Given the description of an element on the screen output the (x, y) to click on. 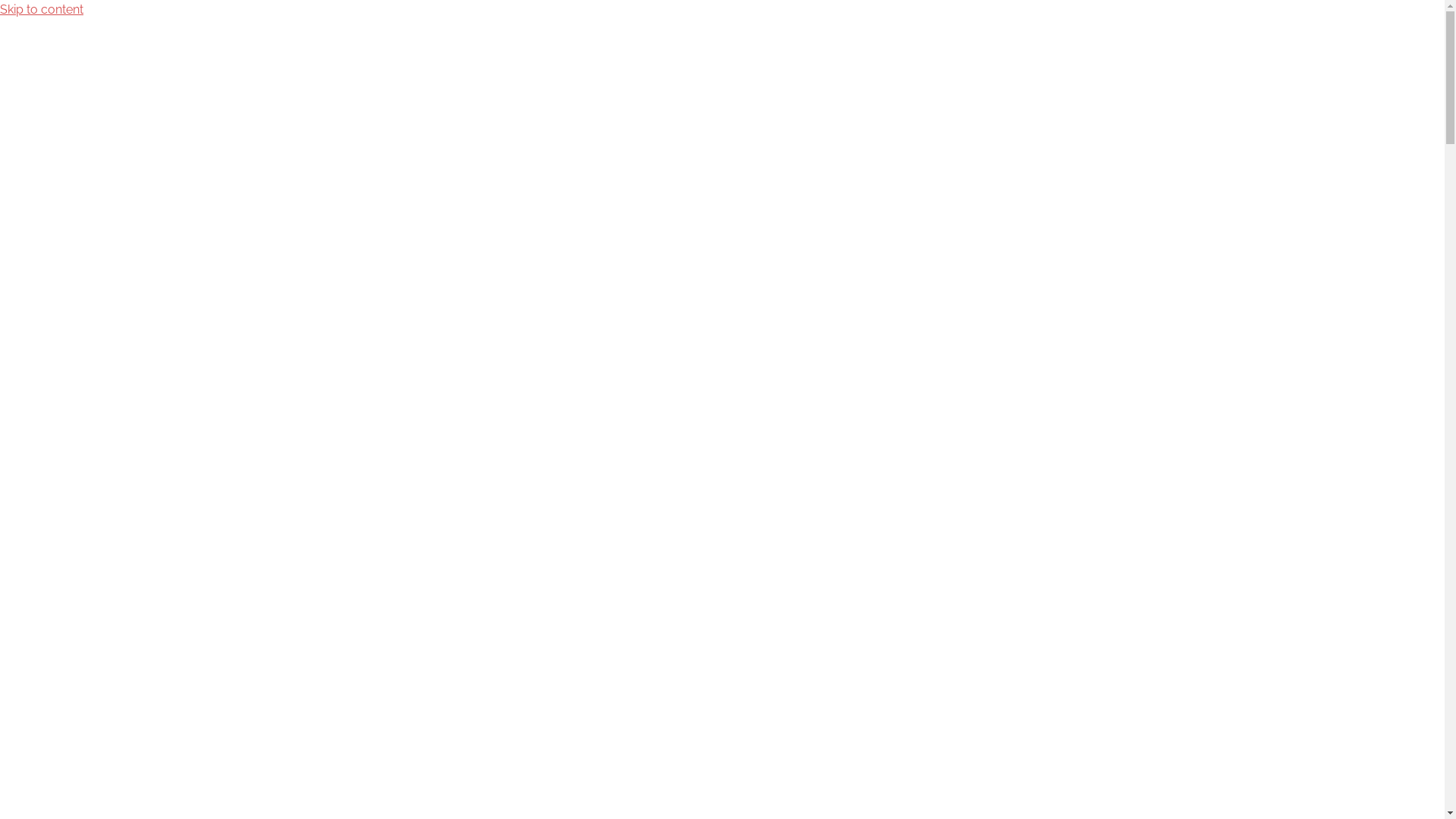
Skip to content Element type: text (41, 9)
